Given the description of an element on the screen output the (x, y) to click on. 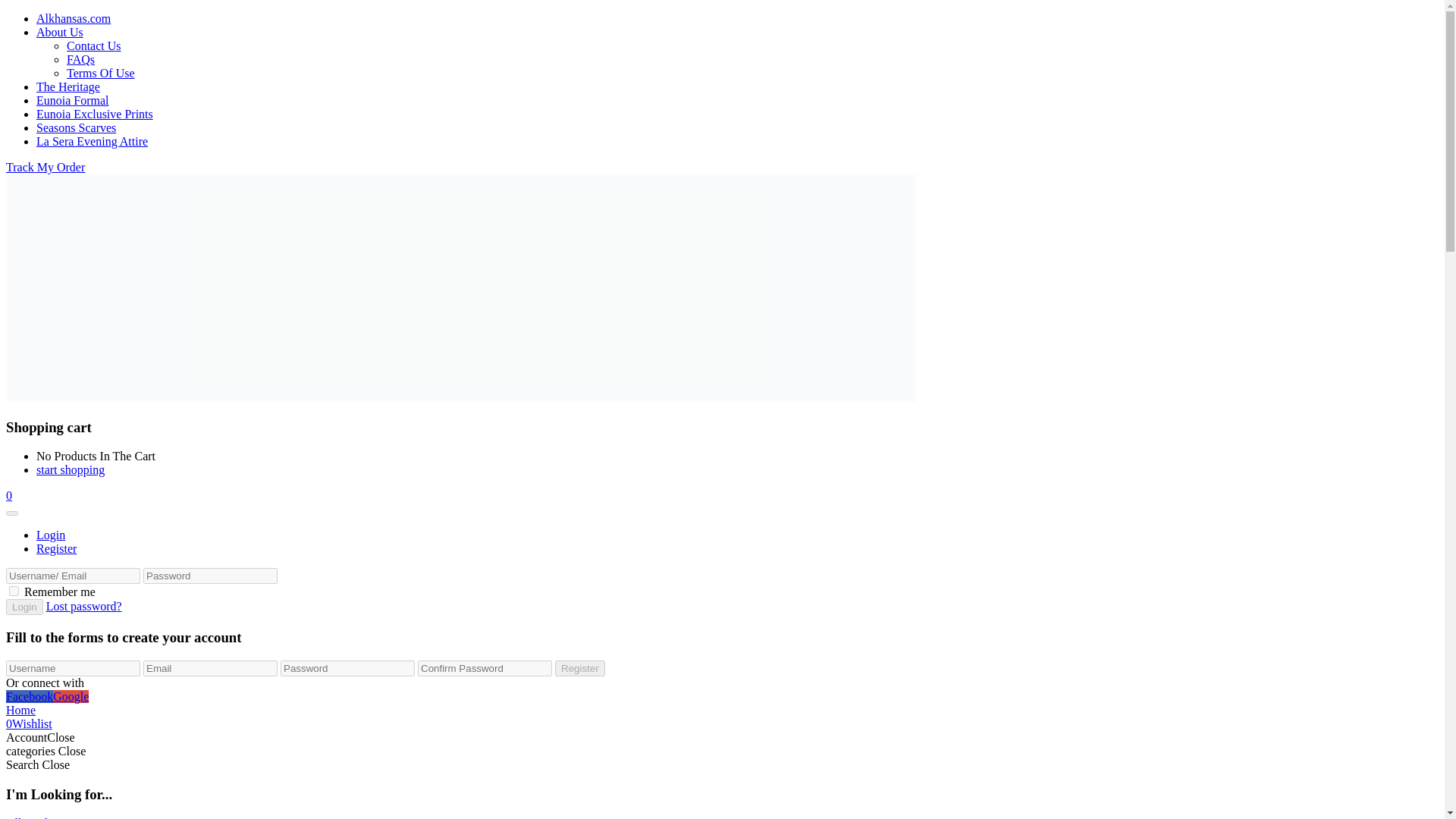
All Products (35, 817)
start shopping (70, 469)
Seasons Scarves (76, 127)
Register (579, 668)
La Sera Evening Attire (92, 141)
AccountClose (40, 737)
Register (56, 548)
About Us (59, 31)
Alkhansas.com (73, 18)
Register (579, 668)
